Given the description of an element on the screen output the (x, y) to click on. 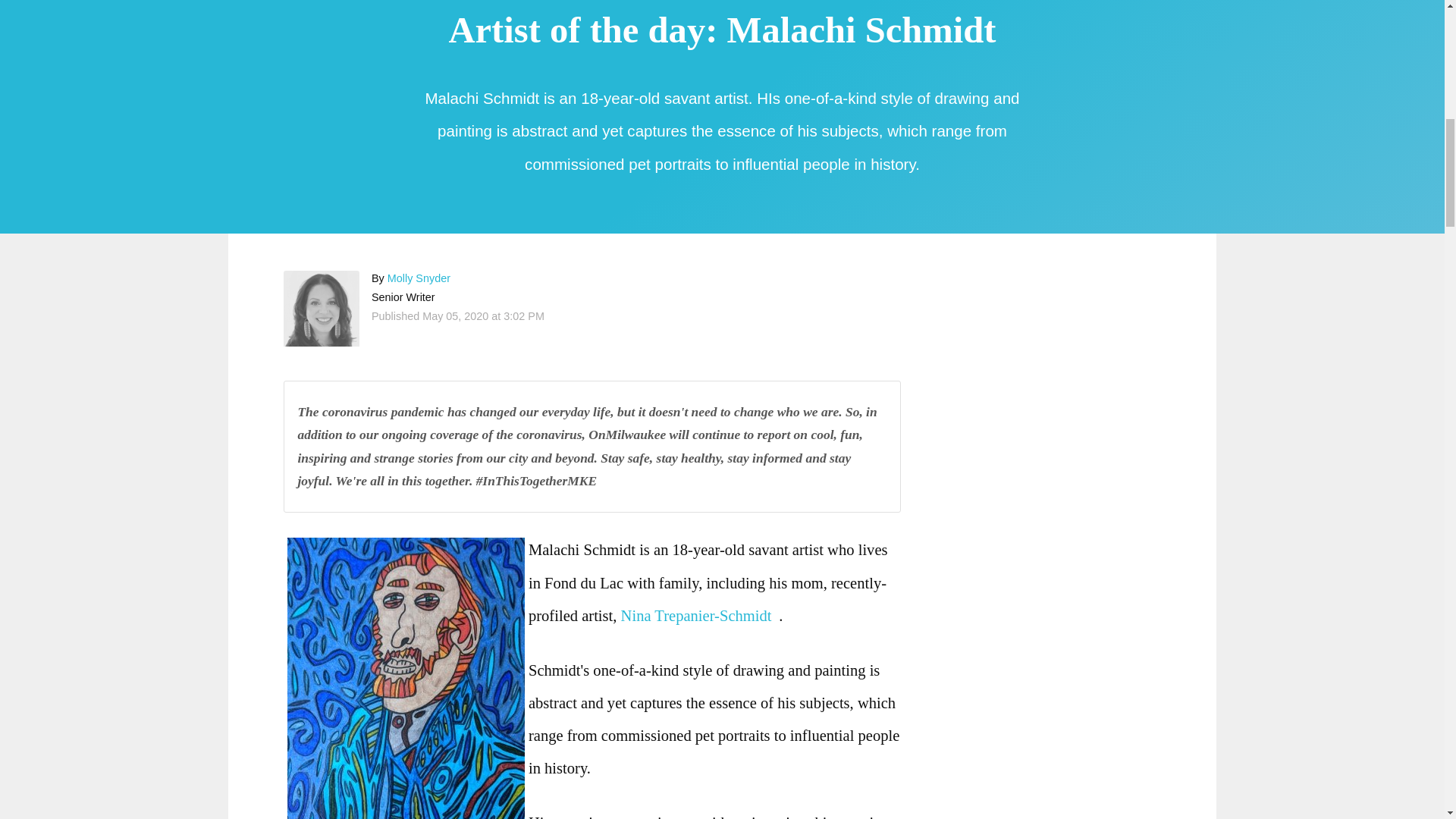
Nina Trepanier-Schmidt (699, 615)
Molly Snyder  (321, 308)
our ongoing coverage of the coronavirus (470, 434)
More articles by Molly Snyder  (418, 277)
Molly Snyder (418, 277)
stay informed (765, 458)
